Given the description of an element on the screen output the (x, y) to click on. 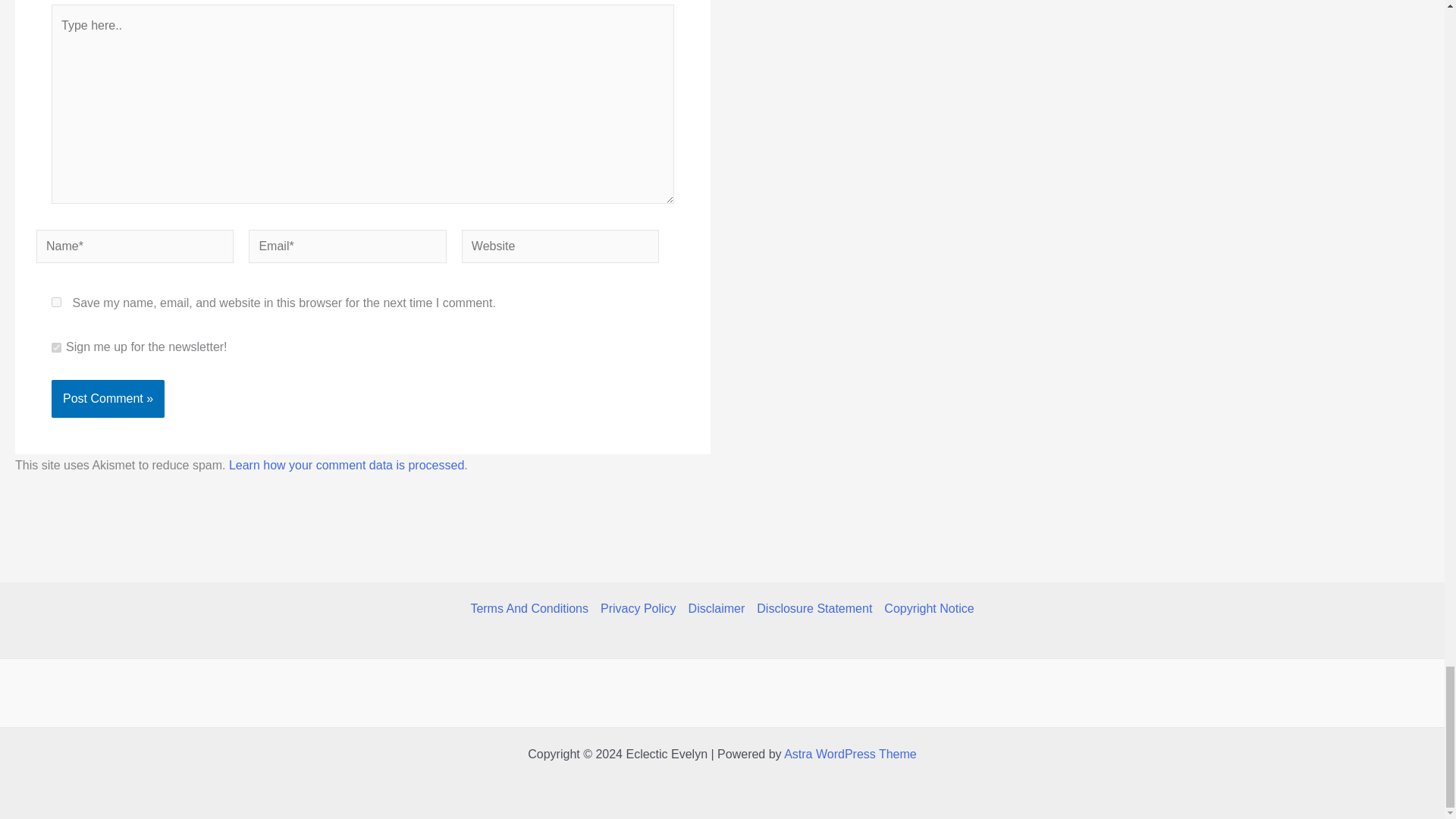
yes (55, 302)
1 (55, 347)
